Given the description of an element on the screen output the (x, y) to click on. 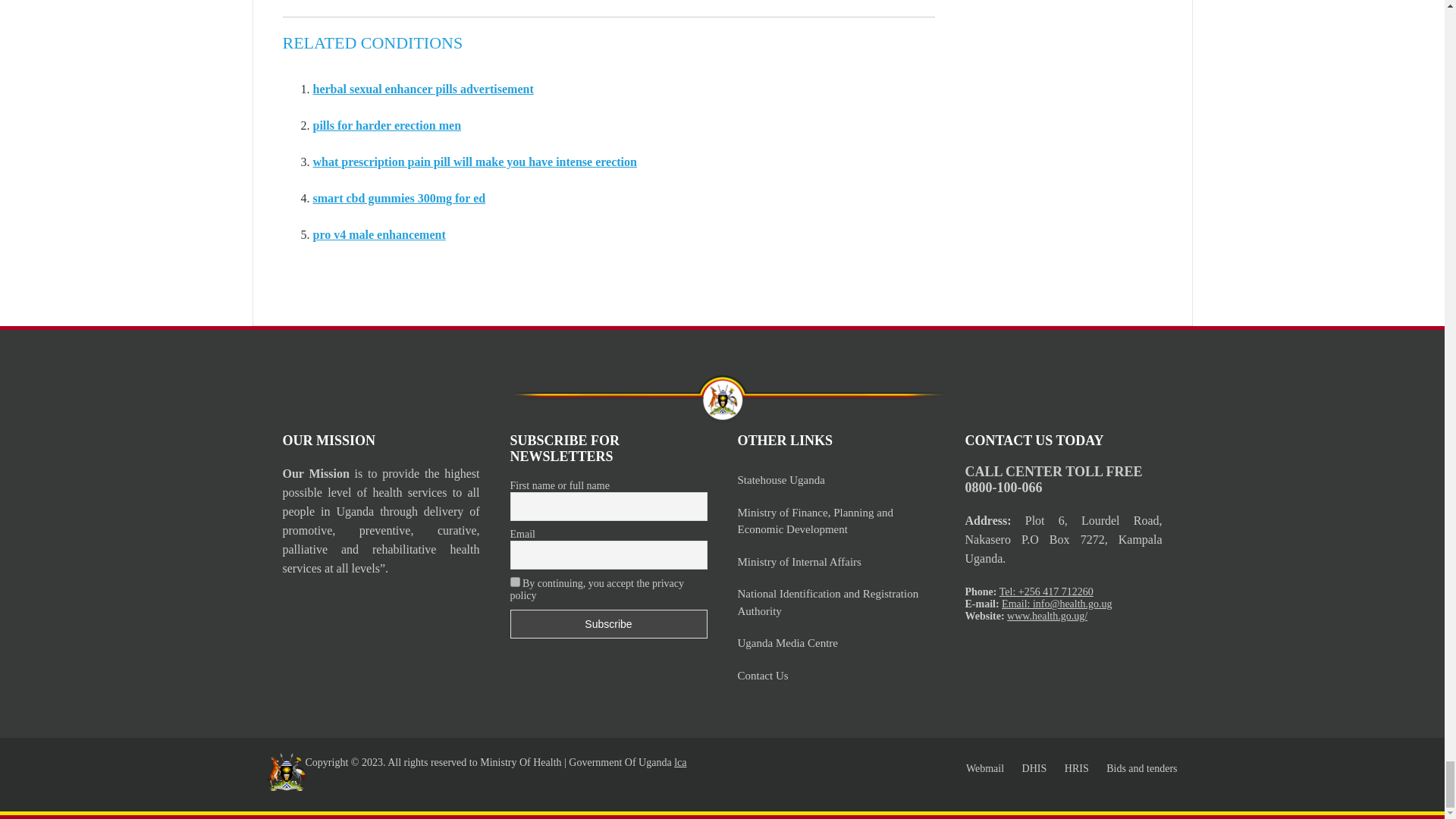
Subscribe (607, 623)
on (514, 582)
